Given the description of an element on the screen output the (x, y) to click on. 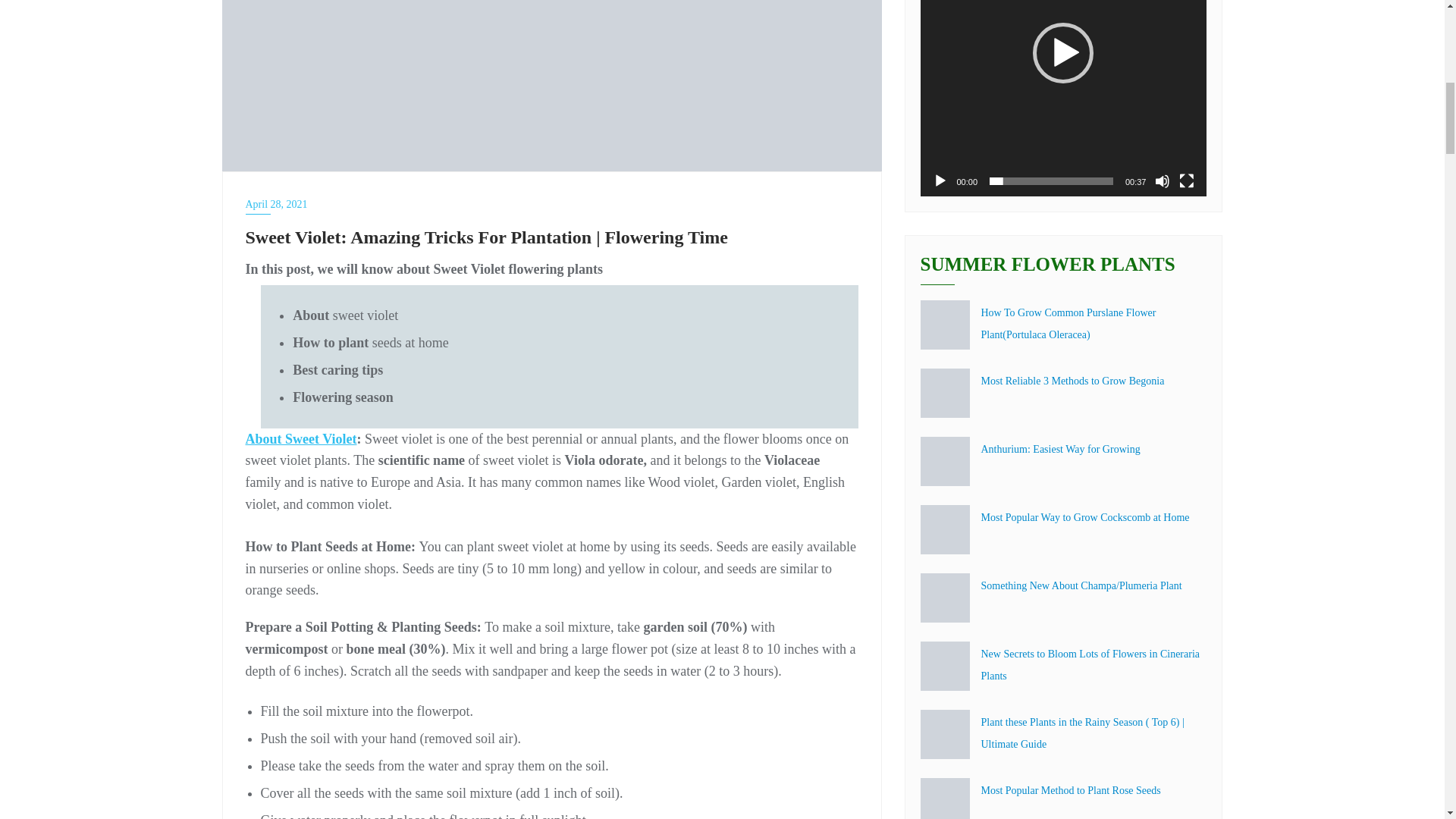
Play (940, 181)
Mute (1162, 181)
Fullscreen (1186, 181)
